Given the description of an element on the screen output the (x, y) to click on. 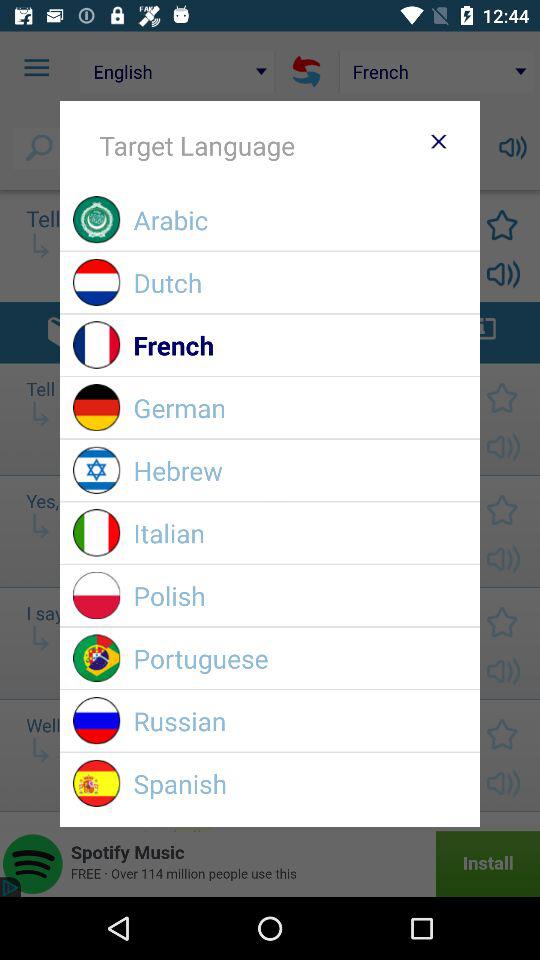
launch the icon to the right of target language item (438, 141)
